Given the description of an element on the screen output the (x, y) to click on. 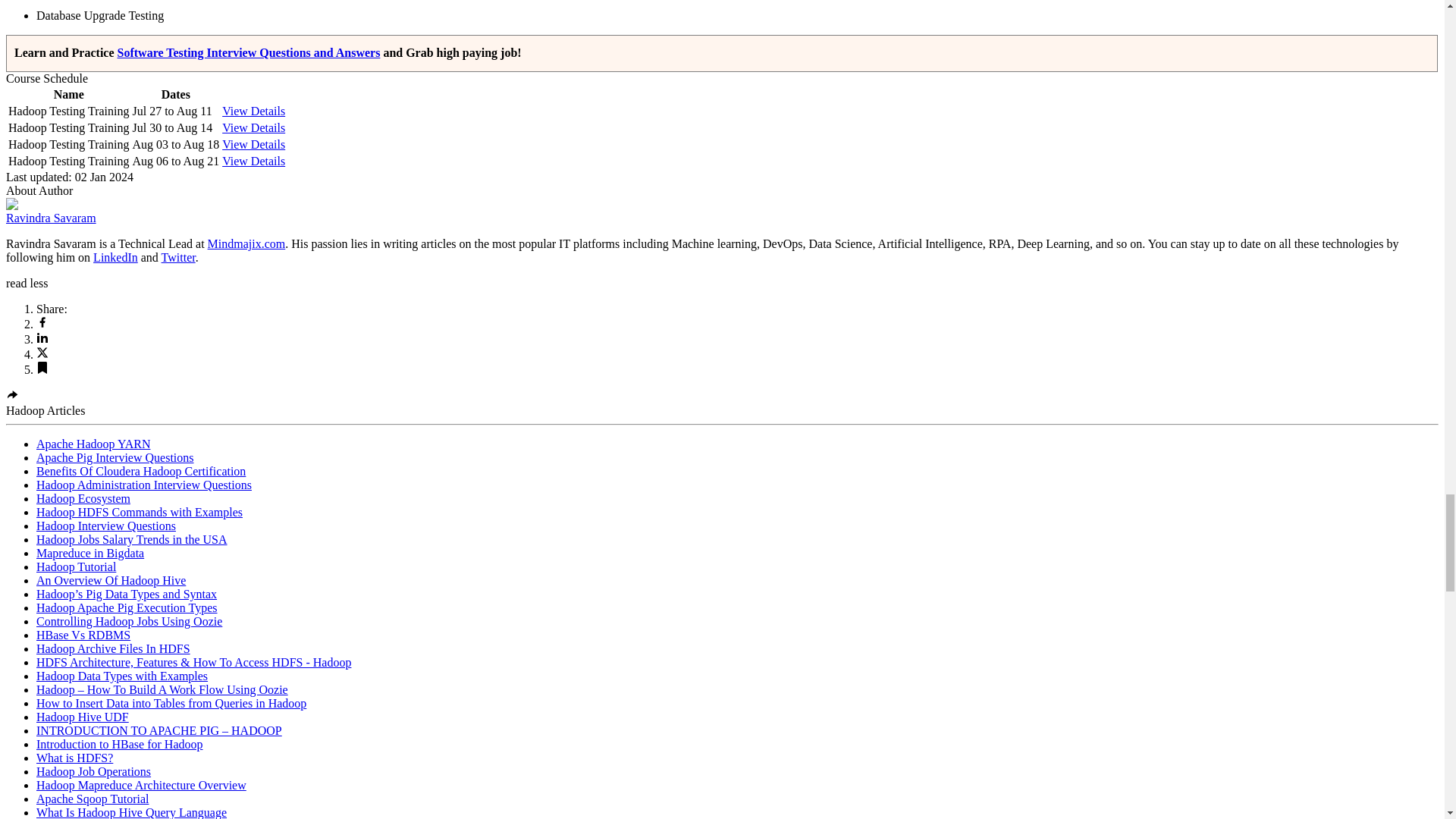
LinkedIn (115, 256)
Twitter (178, 256)
LinkedIn (42, 338)
Mindmajix.com (246, 243)
Manual Testing Interview Questions (248, 51)
Facebook (42, 323)
View Details (253, 160)
Twitter (178, 256)
View Details (253, 144)
View Details (253, 110)
Ravindra Savaram (50, 217)
Linkedin (115, 256)
Mindmajix (246, 243)
View Details (253, 127)
Bookmark (42, 369)
